Given the description of an element on the screen output the (x, y) to click on. 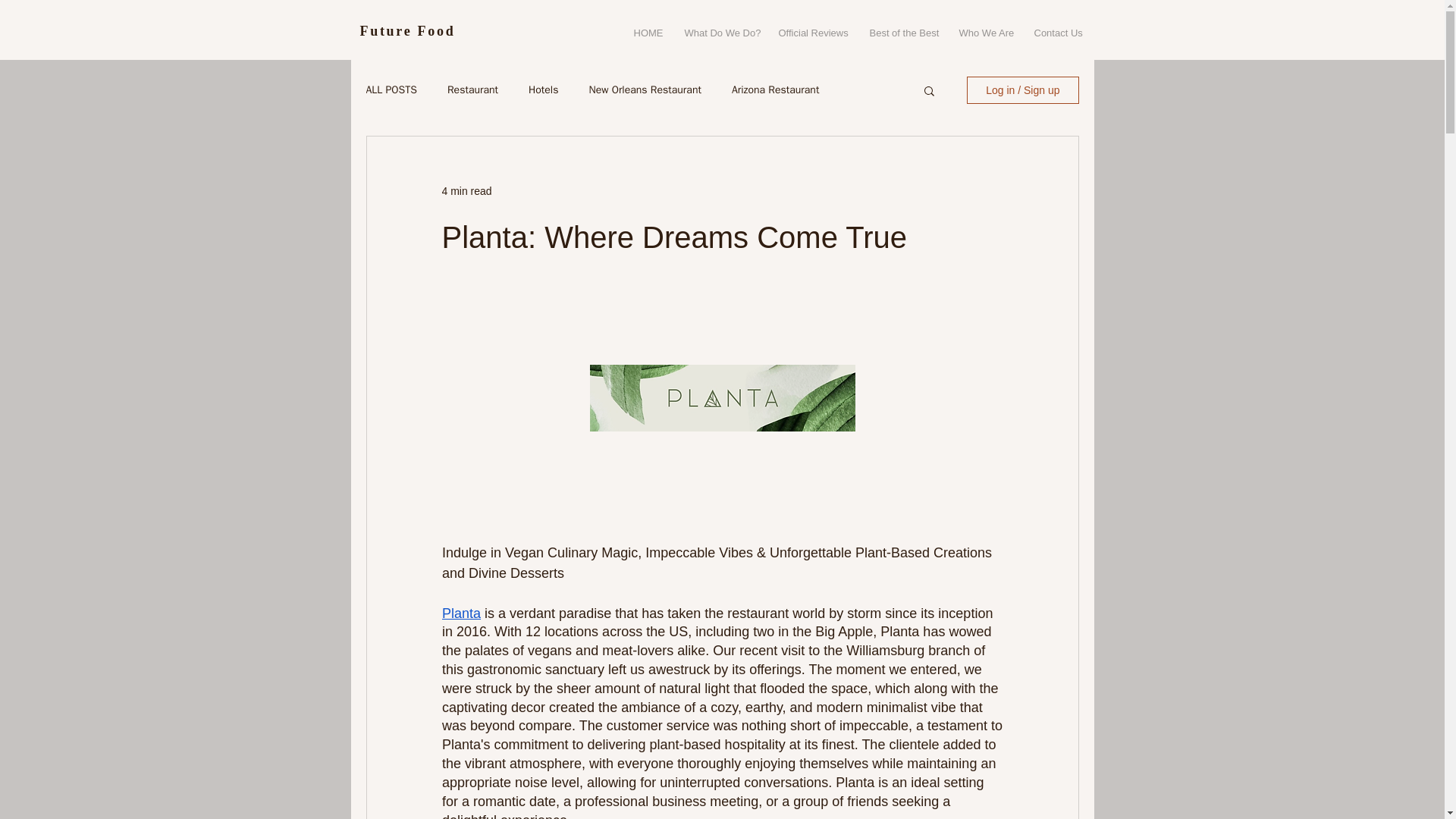
New Orleans Restaurant (644, 90)
Best of the Best (903, 33)
Restaurant (471, 90)
Arizona Restaurant (775, 90)
Future Food (406, 30)
4 min read (466, 191)
Contact Us (1057, 33)
ALL POSTS (390, 90)
Planta (460, 612)
Who We Are (985, 33)
